Given the description of an element on the screen output the (x, y) to click on. 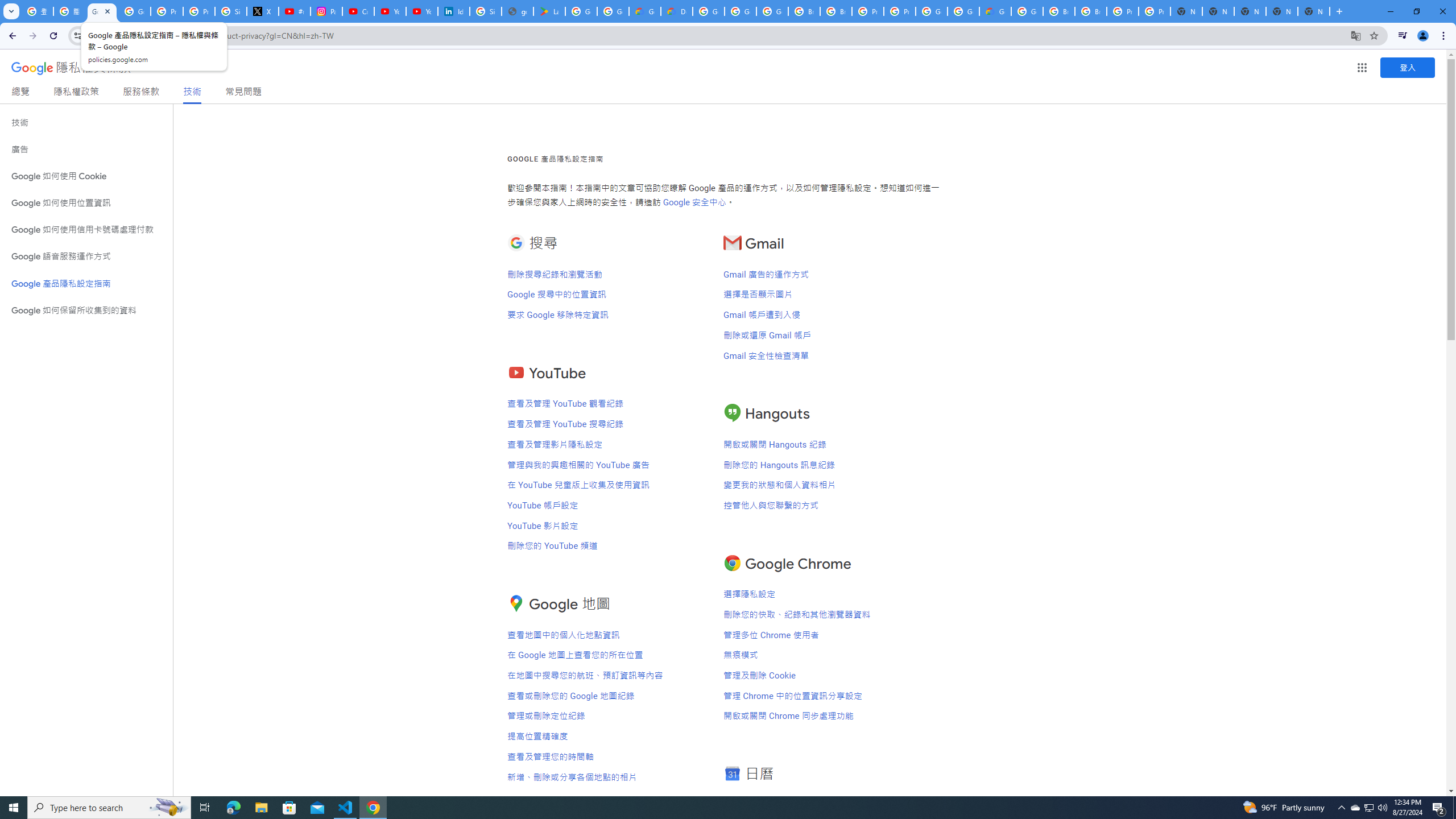
Google Cloud Platform (931, 11)
Browse Chrome as a guest - Computer - Google Chrome Help (1059, 11)
Last Shelter: Survival - Apps on Google Play (549, 11)
